Given the description of an element on the screen output the (x, y) to click on. 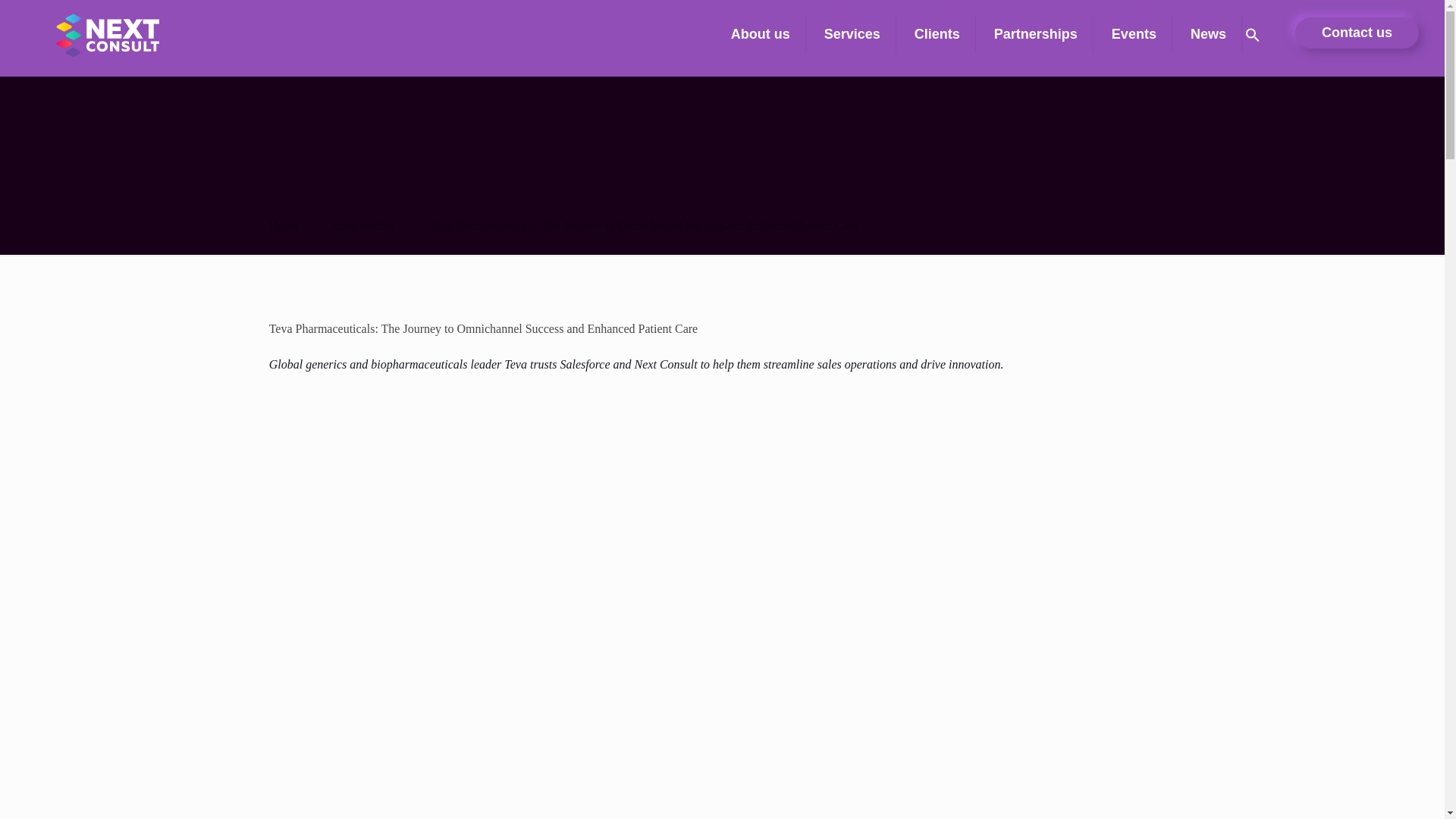
About us (761, 34)
Partnerships (1035, 34)
Services (852, 34)
News (1207, 34)
Clients (937, 34)
Events (1134, 34)
